Given the description of an element on the screen output the (x, y) to click on. 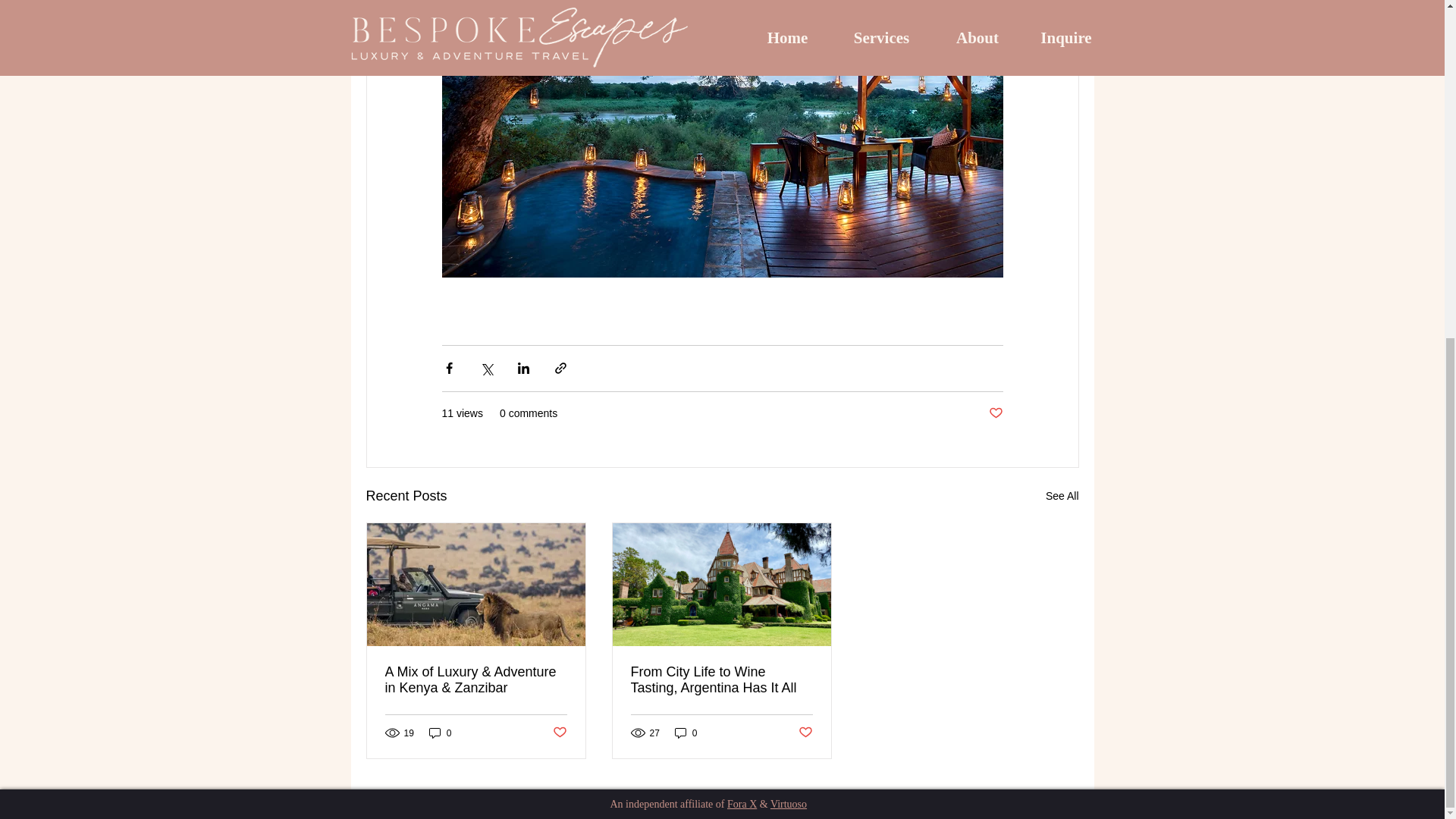
Virtuoso (788, 803)
See All (1061, 495)
Post not marked as liked (995, 413)
Post not marked as liked (804, 732)
0 (685, 732)
0 (440, 732)
From City Life to Wine Tasting, Argentina Has It All (721, 680)
Post not marked as liked (558, 732)
Fora X (741, 803)
